Given the description of an element on the screen output the (x, y) to click on. 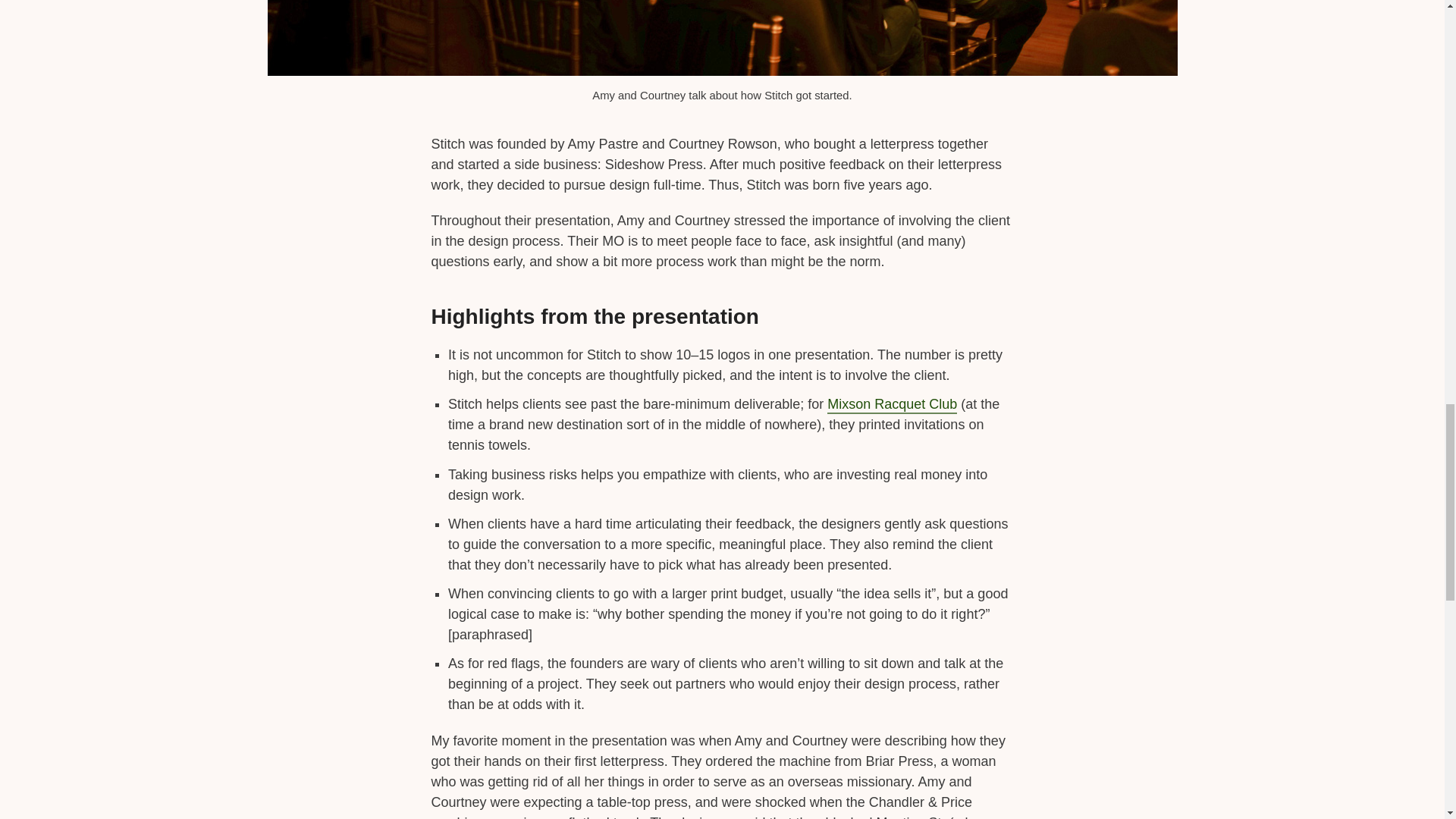
Mixson Racquet Club (891, 405)
